Given the description of an element on the screen output the (x, y) to click on. 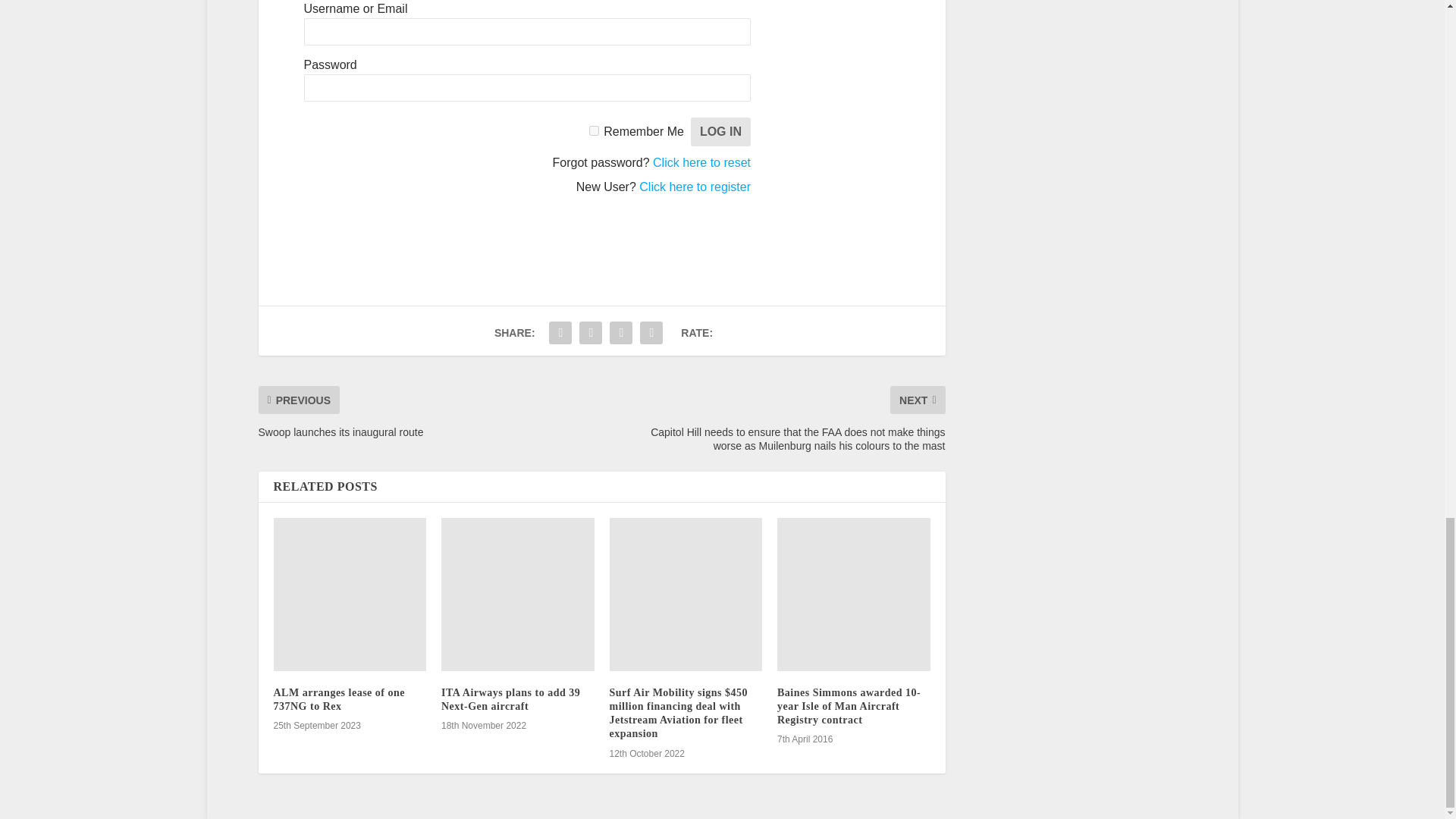
Share "Airbus reports Q1 performance" via Email (620, 332)
forever (593, 130)
Log In (720, 131)
ALM arranges lease of one 737NG to Rex (349, 593)
Share "Airbus reports Q1 performance" via LinkedIn (590, 332)
Share "Airbus reports Q1 performance" via Print (651, 332)
ITA Airways plans to add 39 Next-Gen aircraft (517, 593)
Share "Airbus reports Q1 performance" via Twitter (559, 332)
